Given the description of an element on the screen output the (x, y) to click on. 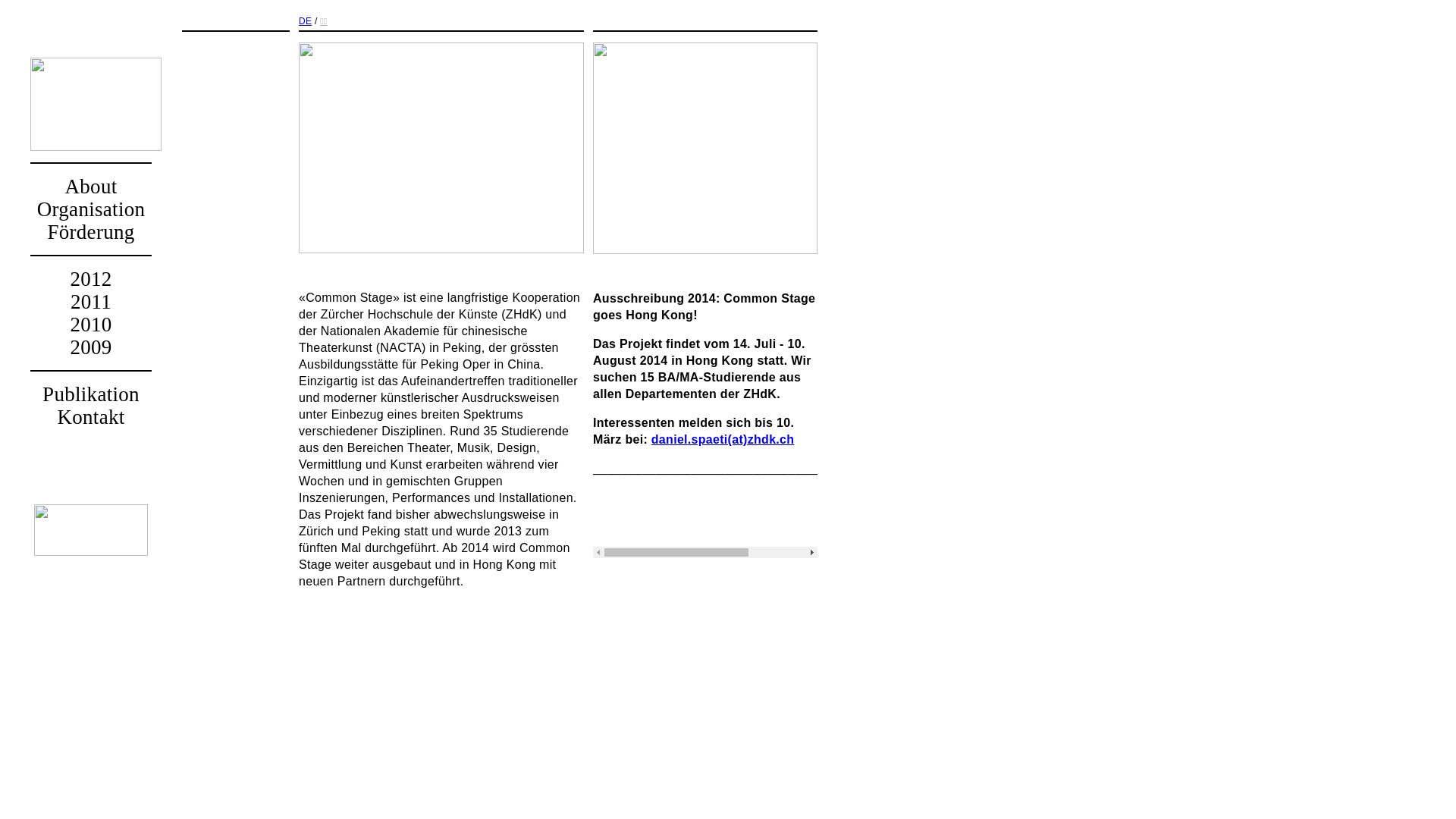
2012 Element type: text (90, 278)
Publikation Element type: text (90, 393)
2011 Element type: text (90, 301)
daniel.spaeti(at)zhdk.ch Element type: text (722, 439)
DE Element type: text (304, 20)
2010 Element type: text (90, 324)
Organisation Element type: text (91, 208)
About Element type: text (91, 186)
2009 Element type: text (90, 346)
Kontakt Element type: text (90, 416)
